Given the description of an element on the screen output the (x, y) to click on. 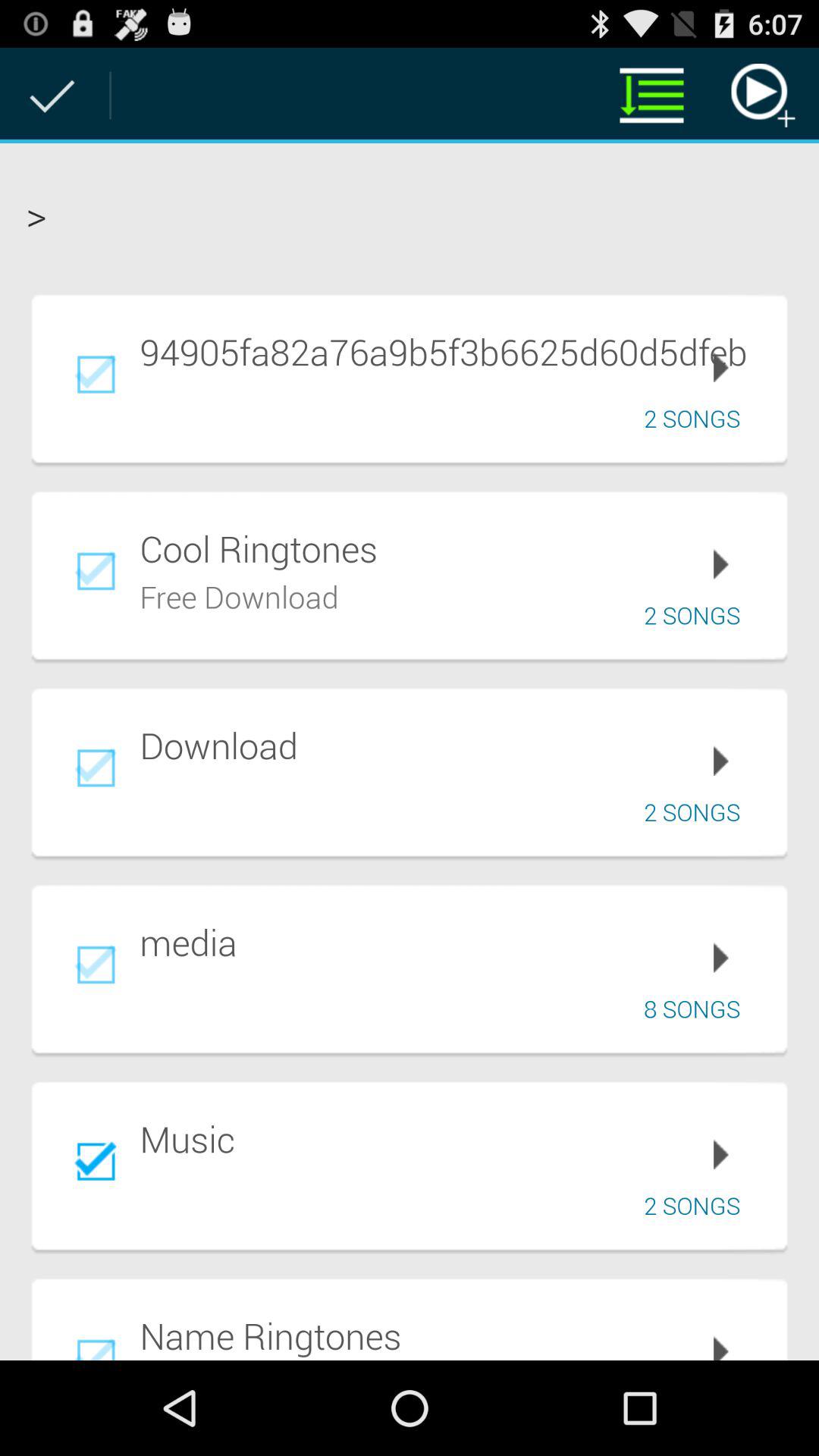
scroll to media (452, 941)
